Given the description of an element on the screen output the (x, y) to click on. 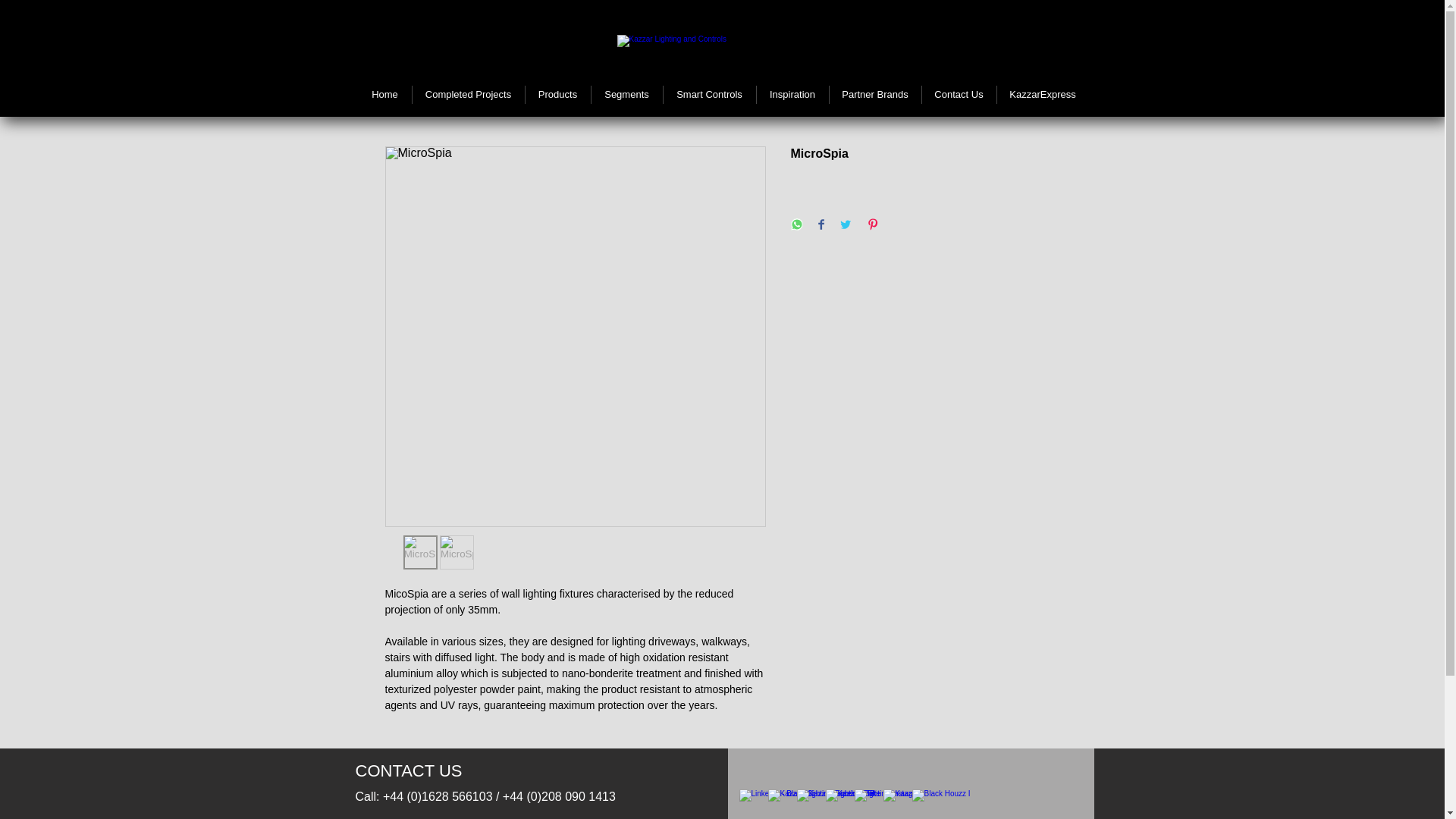
Kazzar Lighting is the new bran name for ONLITEUK (708, 53)
Completed Projects (468, 94)
KazzarExpress (1041, 94)
Smart Controls (708, 94)
Contact Us (958, 94)
Partner Brands (875, 94)
Home (384, 94)
Segments (626, 94)
